Given the description of an element on the screen output the (x, y) to click on. 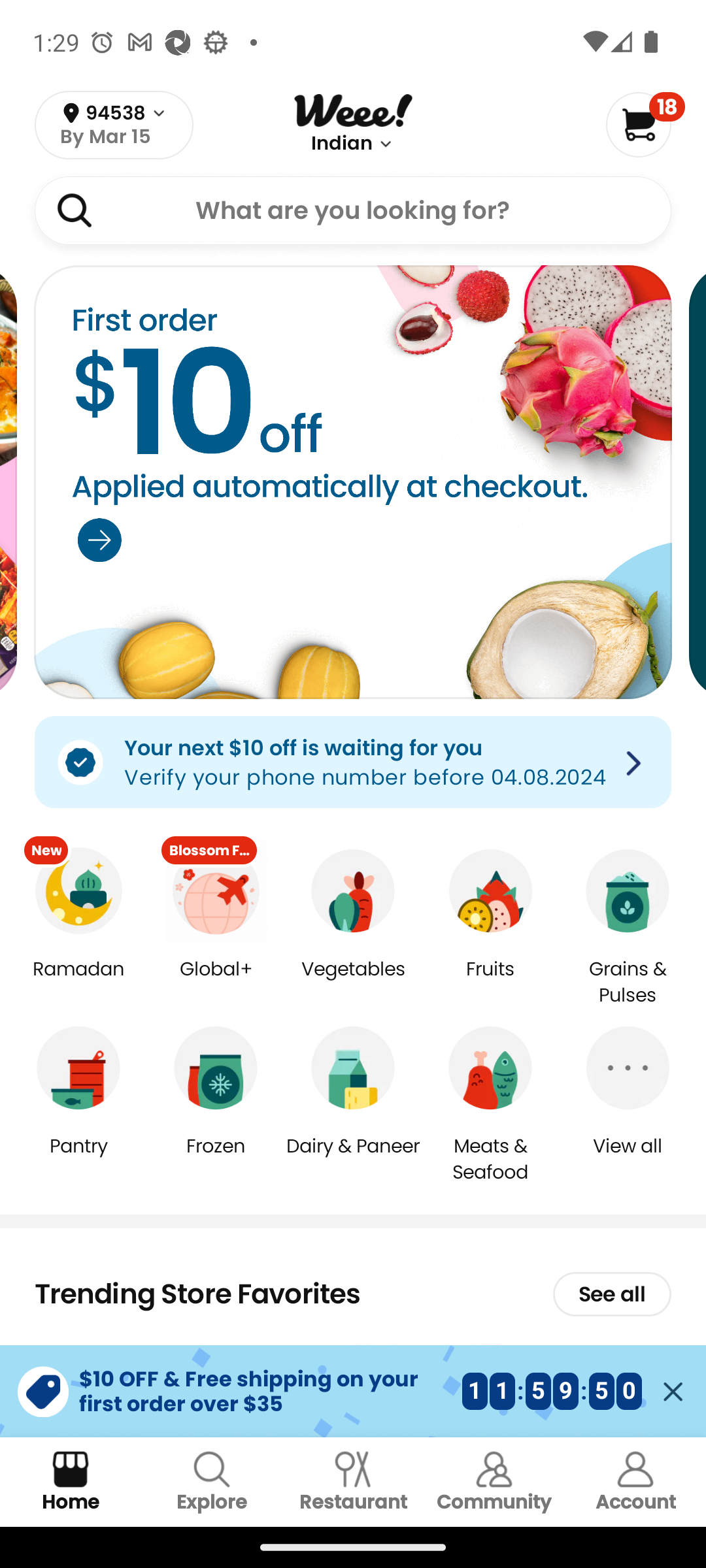
94538 By Mar 15 (113, 124)
18 (644, 124)
Indian (341, 143)
What are you looking for? (352, 209)
Ramadan (77, 982)
Global+ (215, 982)
Vegetables (352, 982)
Fruits (490, 982)
Grains & Pulses (627, 982)
Pantry (77, 1159)
Frozen (215, 1159)
Dairy & Paneer (352, 1159)
Meats & Seafood (490, 1158)
View all (627, 1159)
Home (70, 1482)
Explore (211, 1482)
Restaurant (352, 1482)
Community (493, 1482)
Account (635, 1482)
